Given the description of an element on the screen output the (x, y) to click on. 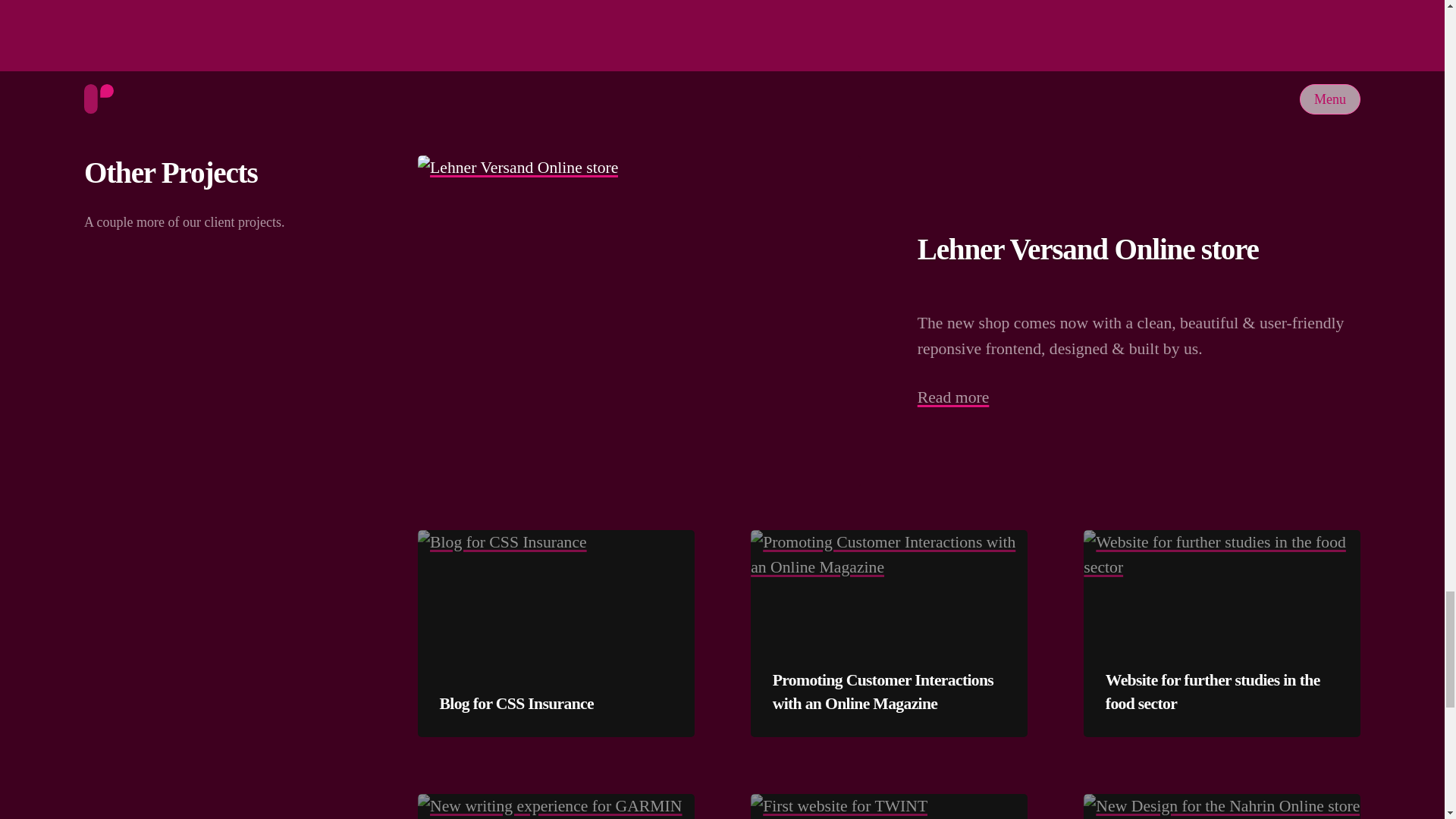
Promoting Customer Interactions with an Online Magazine (889, 692)
Website for further studies in the food sector (1222, 692)
Read more (953, 397)
Lehner Versand Online store (1088, 248)
Blog for CSS Insurance (516, 703)
